Given the description of an element on the screen output the (x, y) to click on. 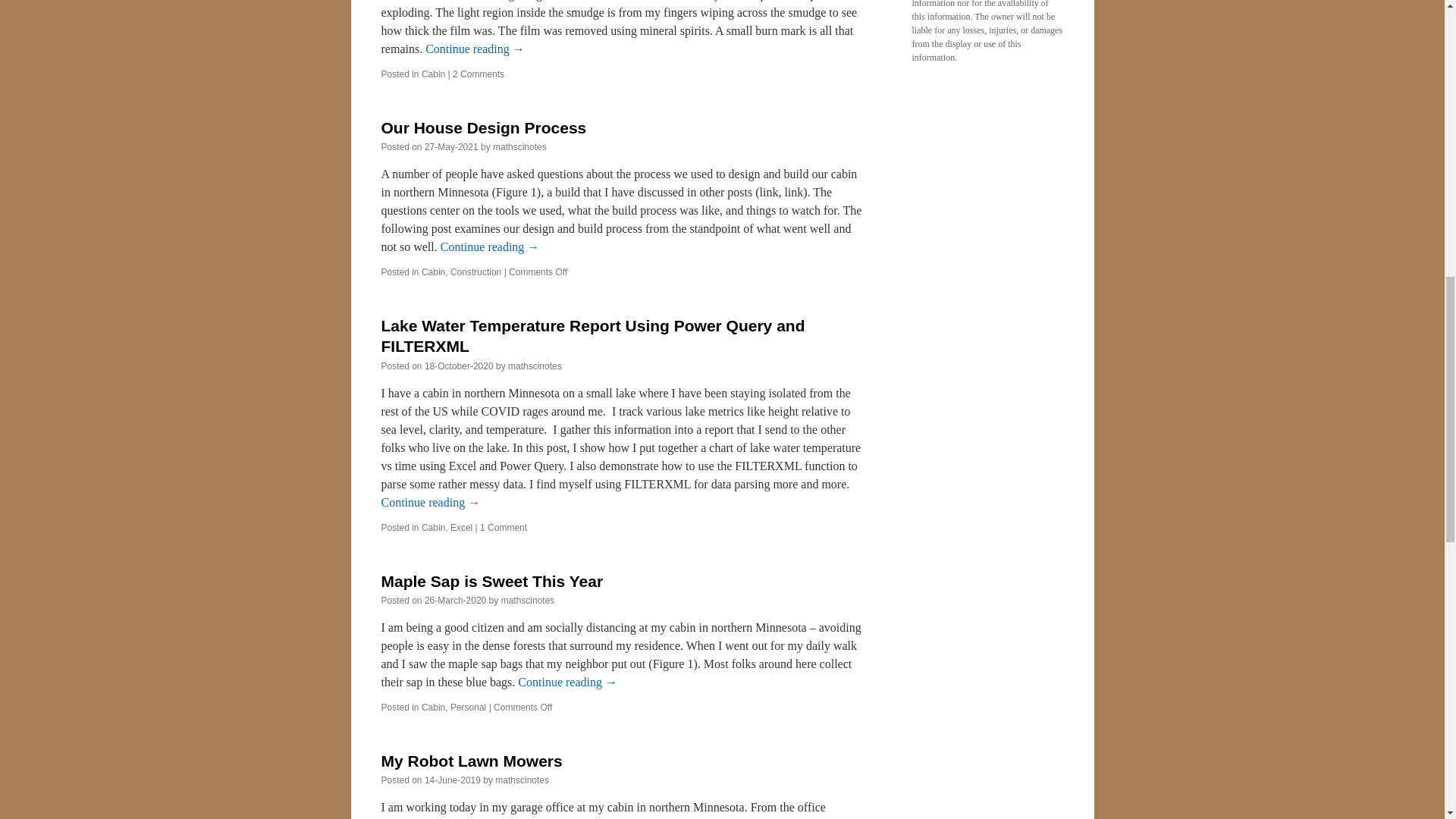
View all posts by mathscinotes (535, 366)
mathscinotes (520, 146)
10:30 pm (452, 146)
Our House Design Process (483, 127)
Cabin (433, 527)
Cabin (433, 271)
18-October-2020 (459, 366)
View all posts by mathscinotes (521, 779)
mathscinotes (535, 366)
